Given the description of an element on the screen output the (x, y) to click on. 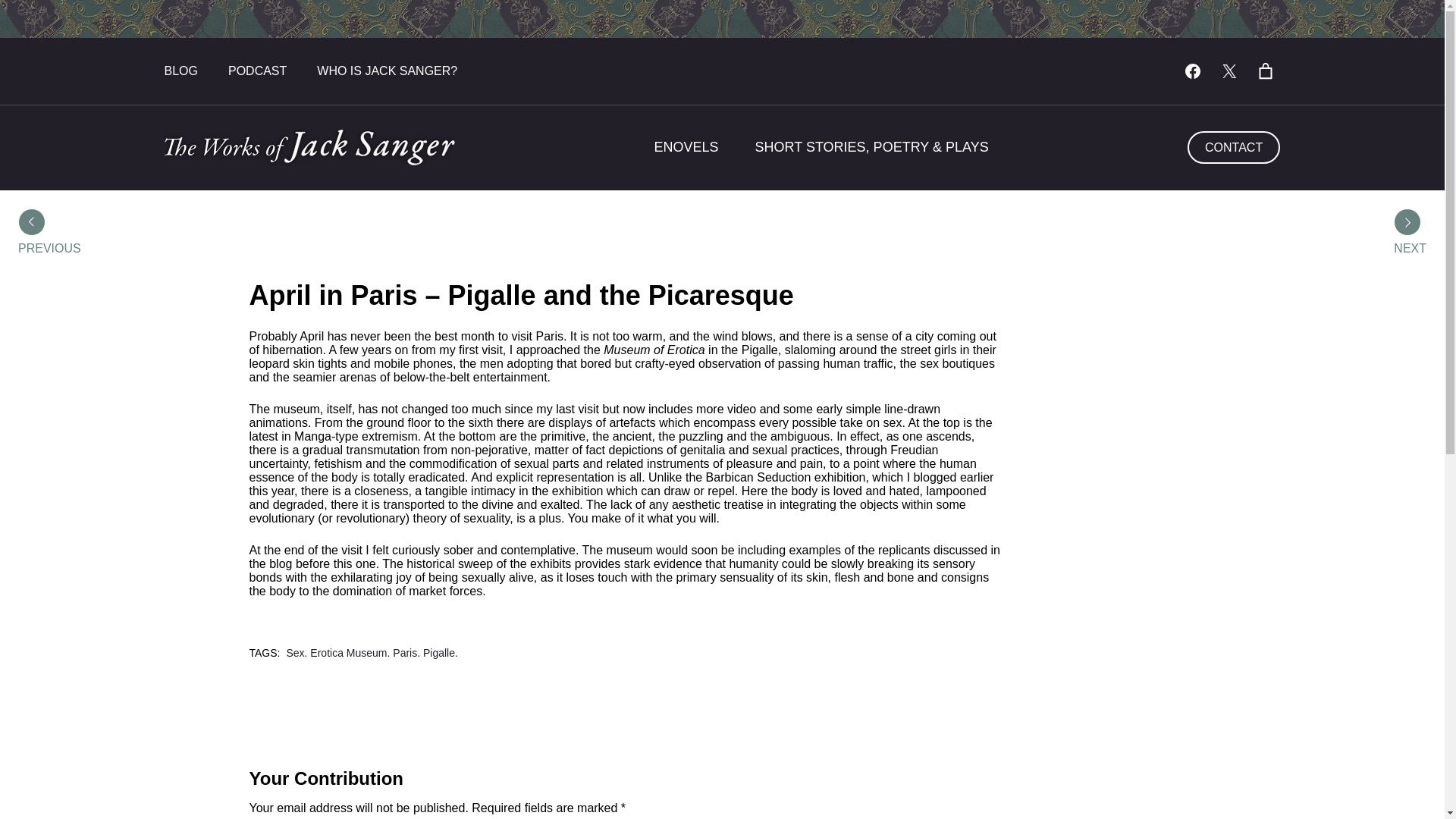
Sex. Erotica Museum. Paris. Pigalle. (371, 653)
ENOVELS (686, 147)
X (1228, 71)
PREVIOUS (49, 248)
NEXT (1409, 248)
CONTACT (1234, 147)
Facebook (1191, 71)
BLOG (179, 70)
WHO IS JACK SANGER? (387, 70)
PODCAST (257, 70)
